Given the description of an element on the screen output the (x, y) to click on. 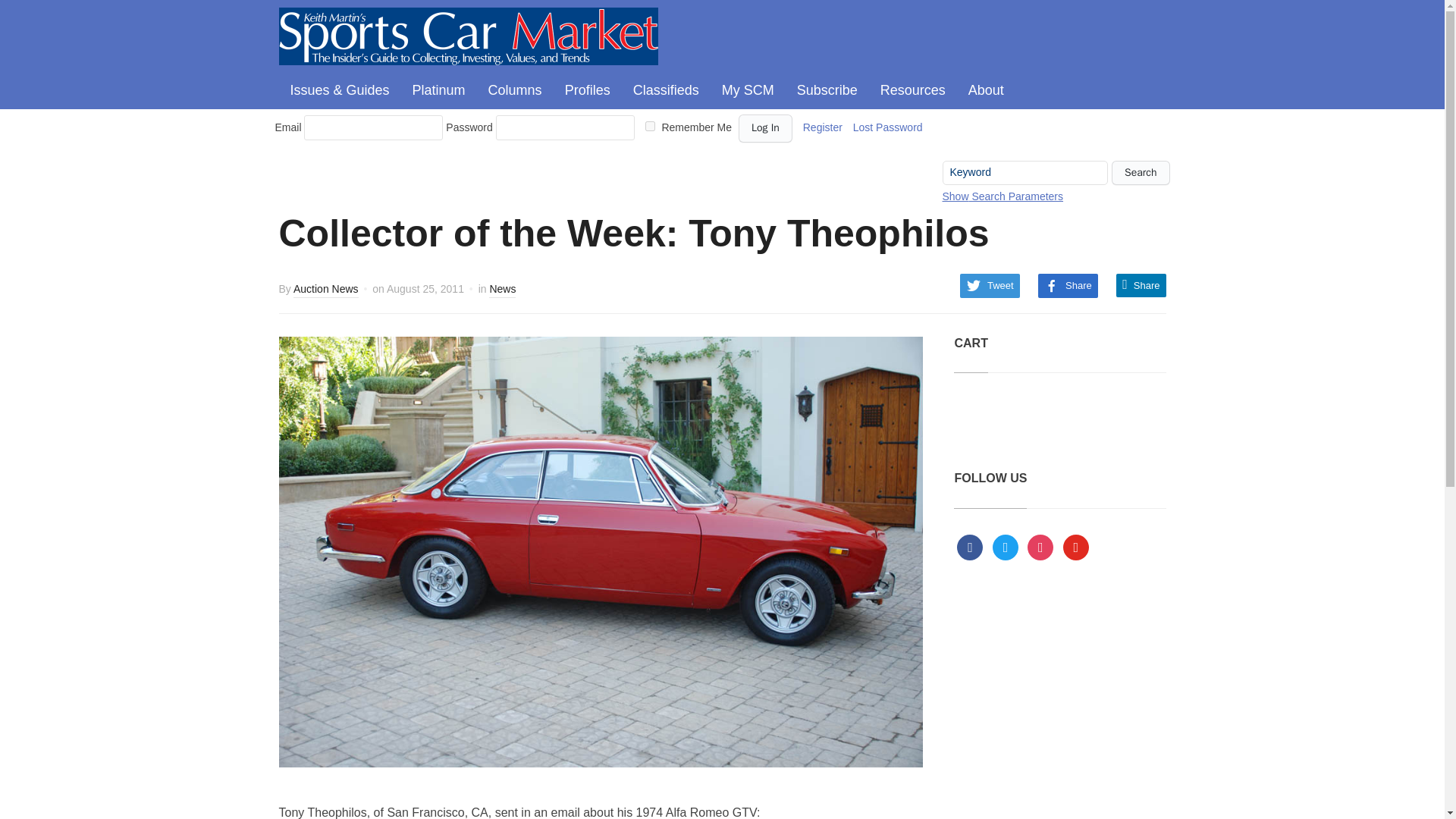
Default Label (1075, 545)
Twitter (1004, 545)
Facebook (969, 545)
Share this on Facebook (1067, 285)
Log In (765, 128)
Tweet this on Twitter (989, 285)
Share on LinkedIn (1141, 285)
Posts by Auction News (326, 290)
Search (1141, 172)
Instagram (1039, 545)
